Given the description of an element on the screen output the (x, y) to click on. 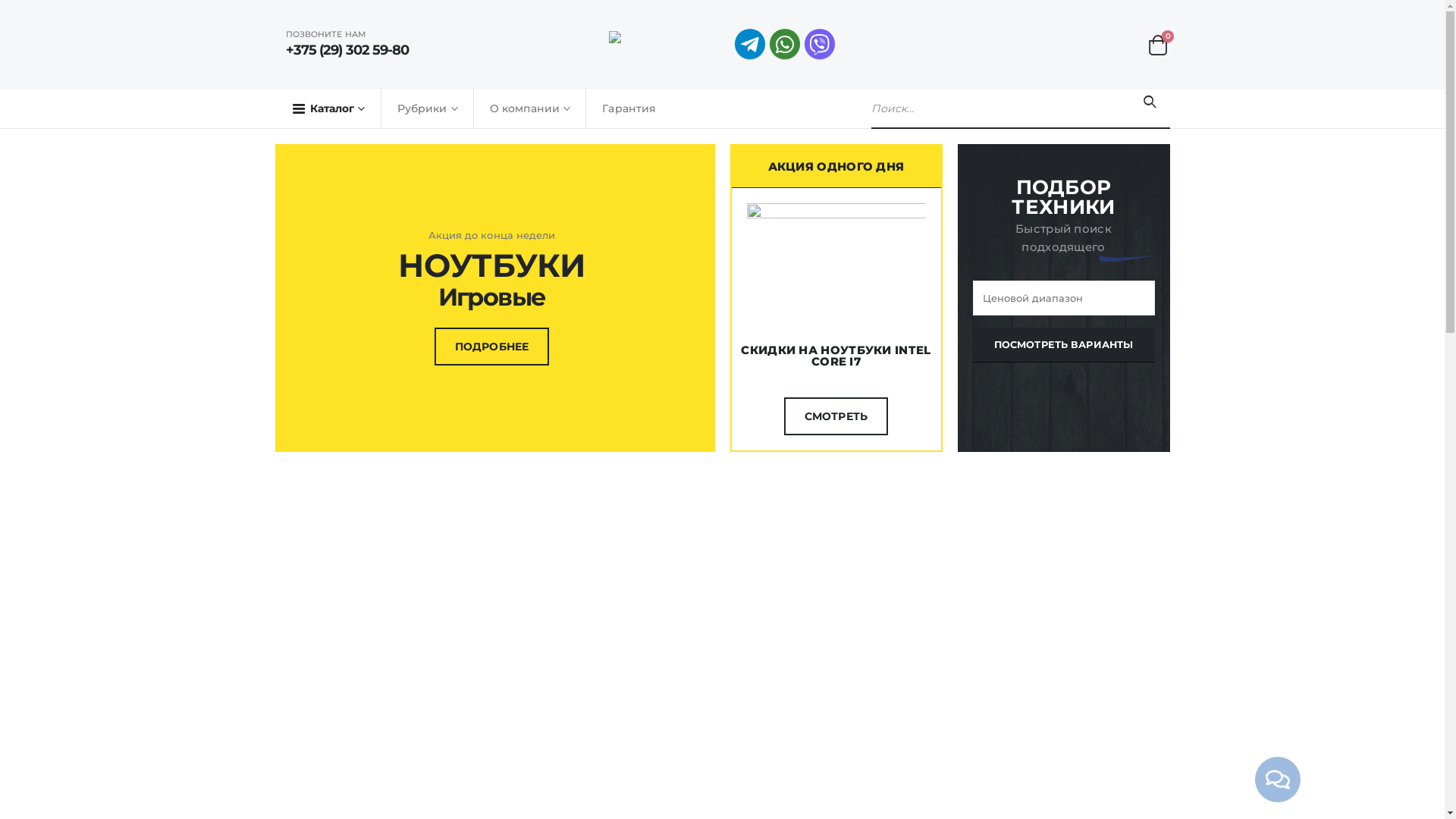
Telegram Element type: hover (749, 43)
WhatsApp Element type: text (784, 43)
Viber Element type: hover (819, 43)
Note.by -  Element type: hover (665, 43)
